Given the description of an element on the screen output the (x, y) to click on. 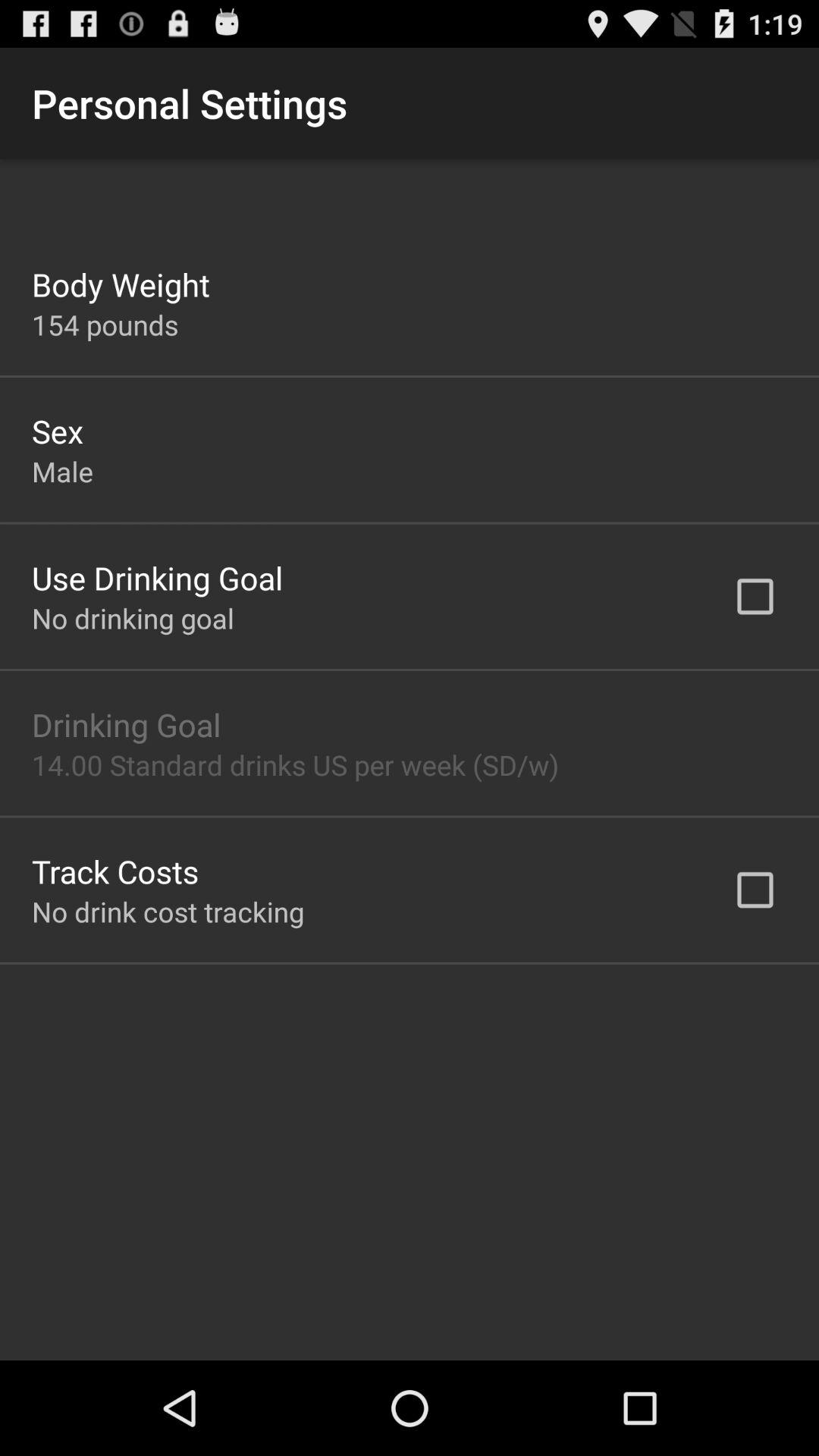
turn off app below the 154 pounds (57, 430)
